Given the description of an element on the screen output the (x, y) to click on. 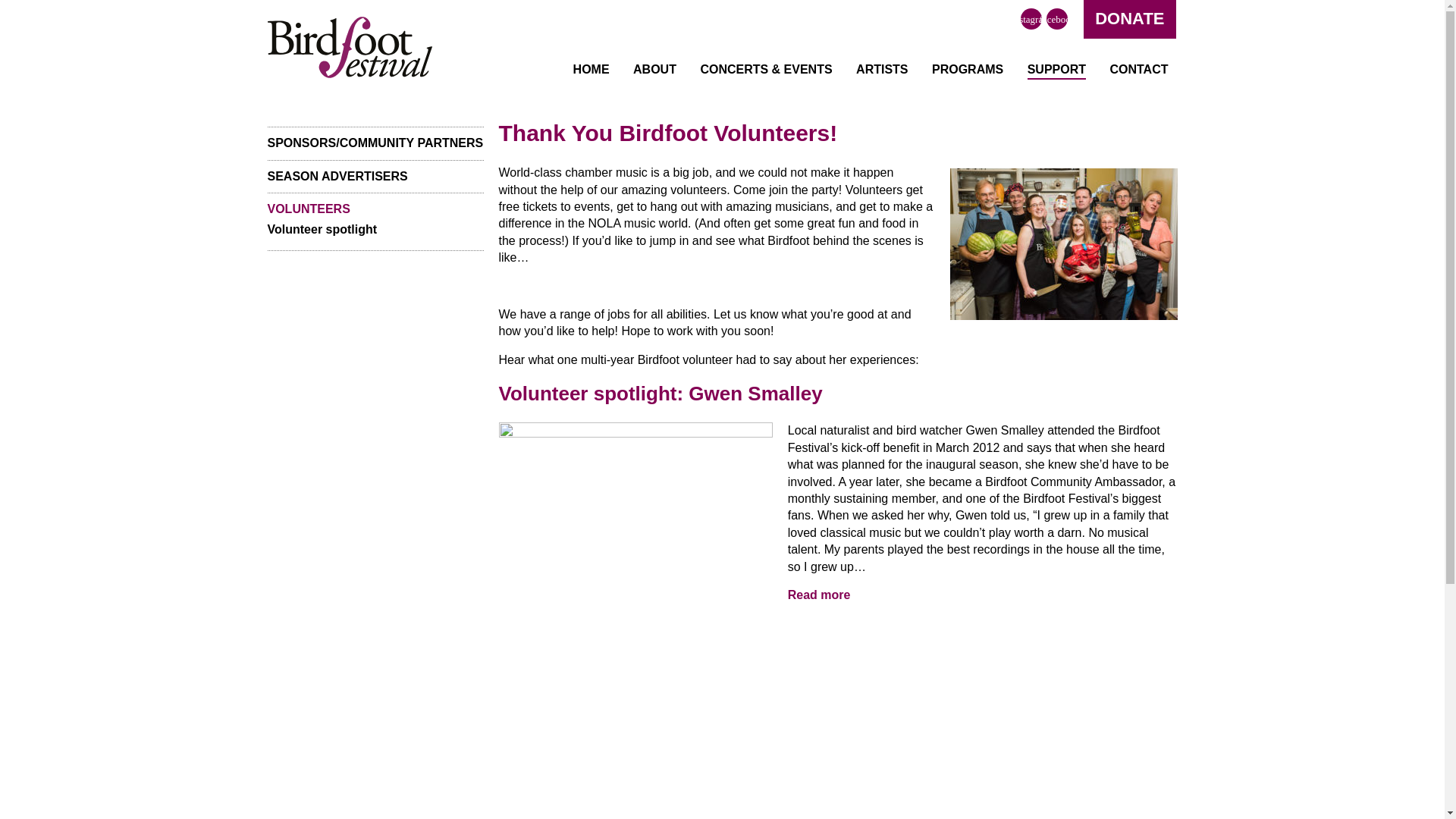
CONTACT (1138, 70)
HOME (591, 70)
ABOUT (654, 70)
Volunteer spotlight: Gwen Smalley (818, 594)
SUPPORT (1056, 70)
Bird Foot Festival (349, 48)
Volunteer spotlight: Gwen Smalley (636, 525)
ARTISTS (881, 70)
instagram (1031, 18)
facebook (1056, 18)
